Given the description of an element on the screen output the (x, y) to click on. 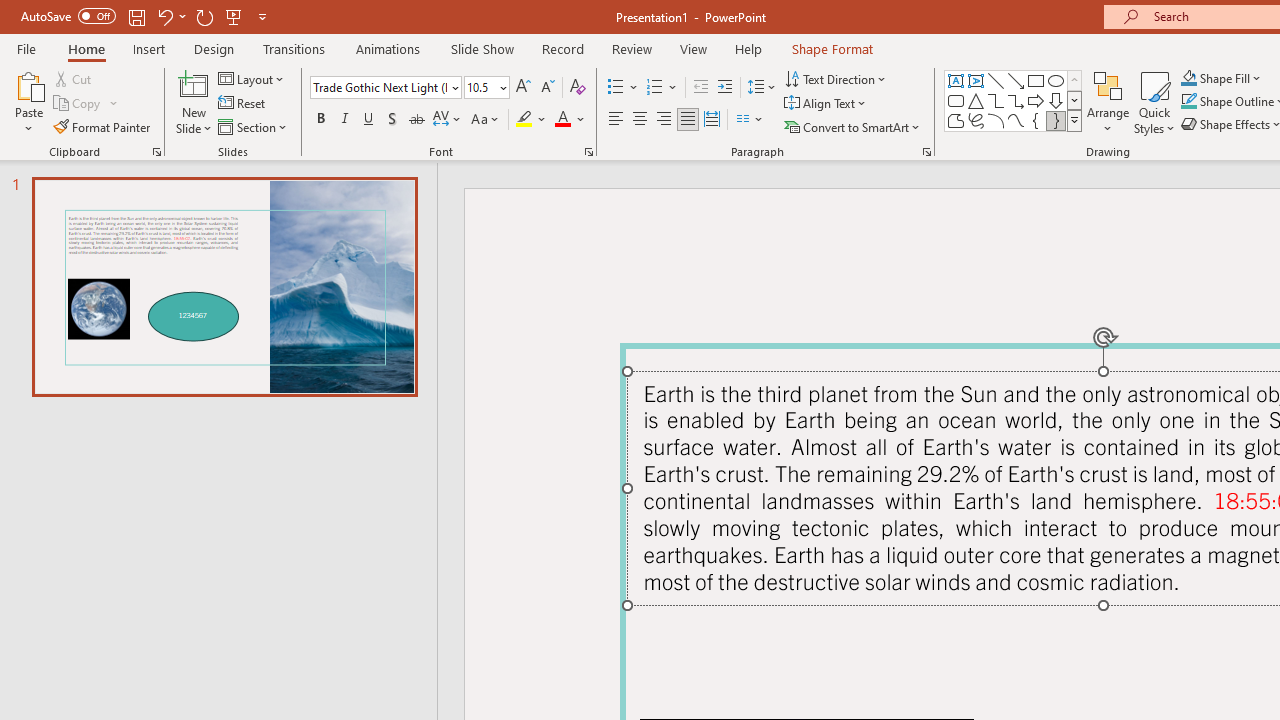
Arrange (1108, 102)
Isosceles Triangle (975, 100)
Section (254, 126)
Italic (344, 119)
Text Box (955, 80)
Align Right (663, 119)
Decrease Font Size (547, 87)
Connector: Elbow (995, 100)
Align Text (826, 103)
Shape Format (832, 48)
